Given the description of an element on the screen output the (x, y) to click on. 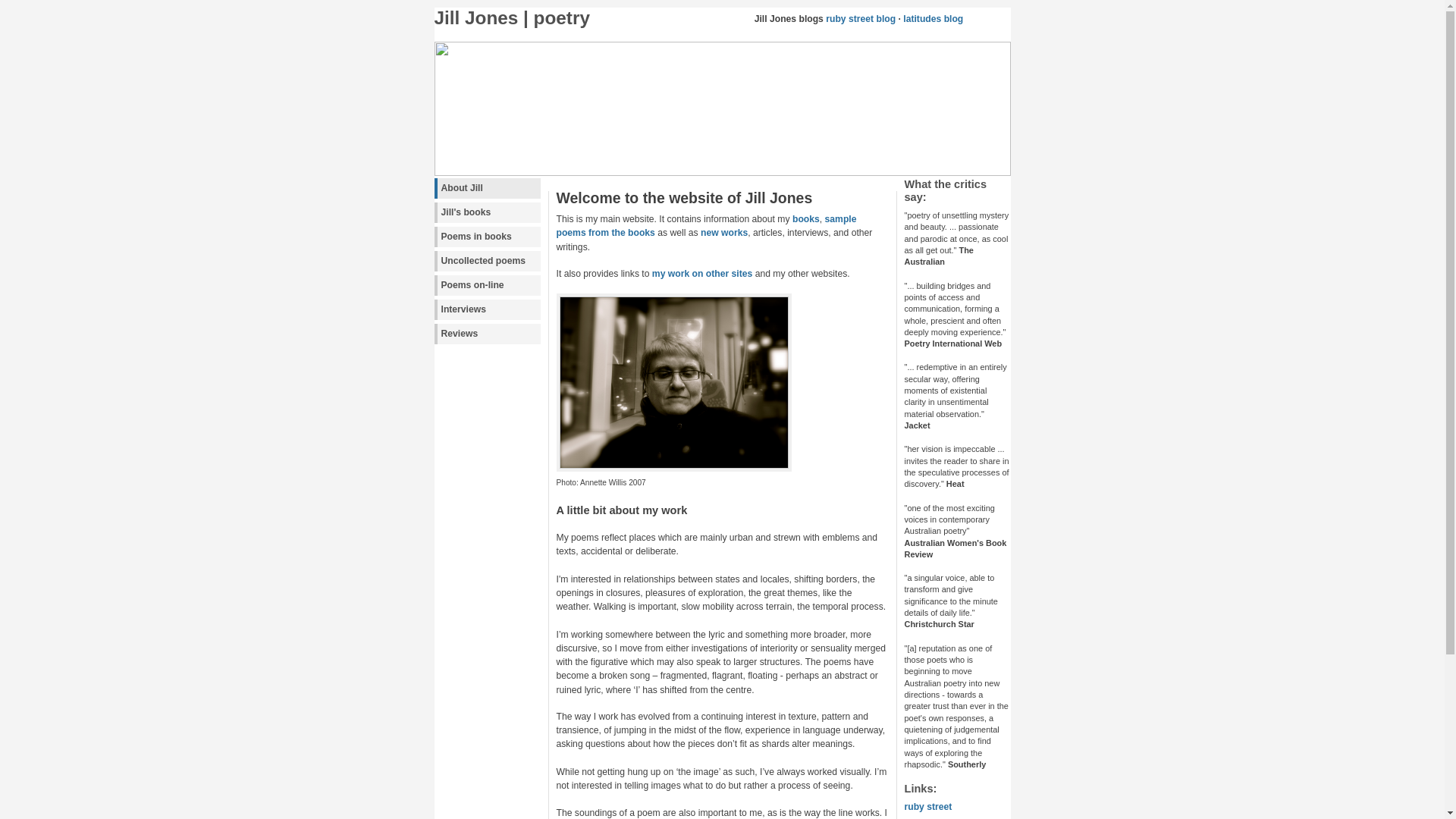
Poems on-line Element type: text (486, 285)
About Jill Element type: text (486, 188)
Jill Jones | poetry Element type: text (511, 17)
ruby street blog Element type: text (860, 18)
Reviews Element type: text (486, 333)
ruby street Element type: text (927, 806)
sample poems from the books Element type: text (706, 225)
Poems in books Element type: text (486, 236)
Interviews Element type: text (486, 309)
latitudes blog Element type: text (933, 18)
Uncollected poems Element type: text (486, 261)
new works Element type: text (723, 232)
my work on other sites Element type: text (702, 273)
Jill's books Element type: text (486, 212)
books Element type: text (805, 218)
